Given the description of an element on the screen output the (x, y) to click on. 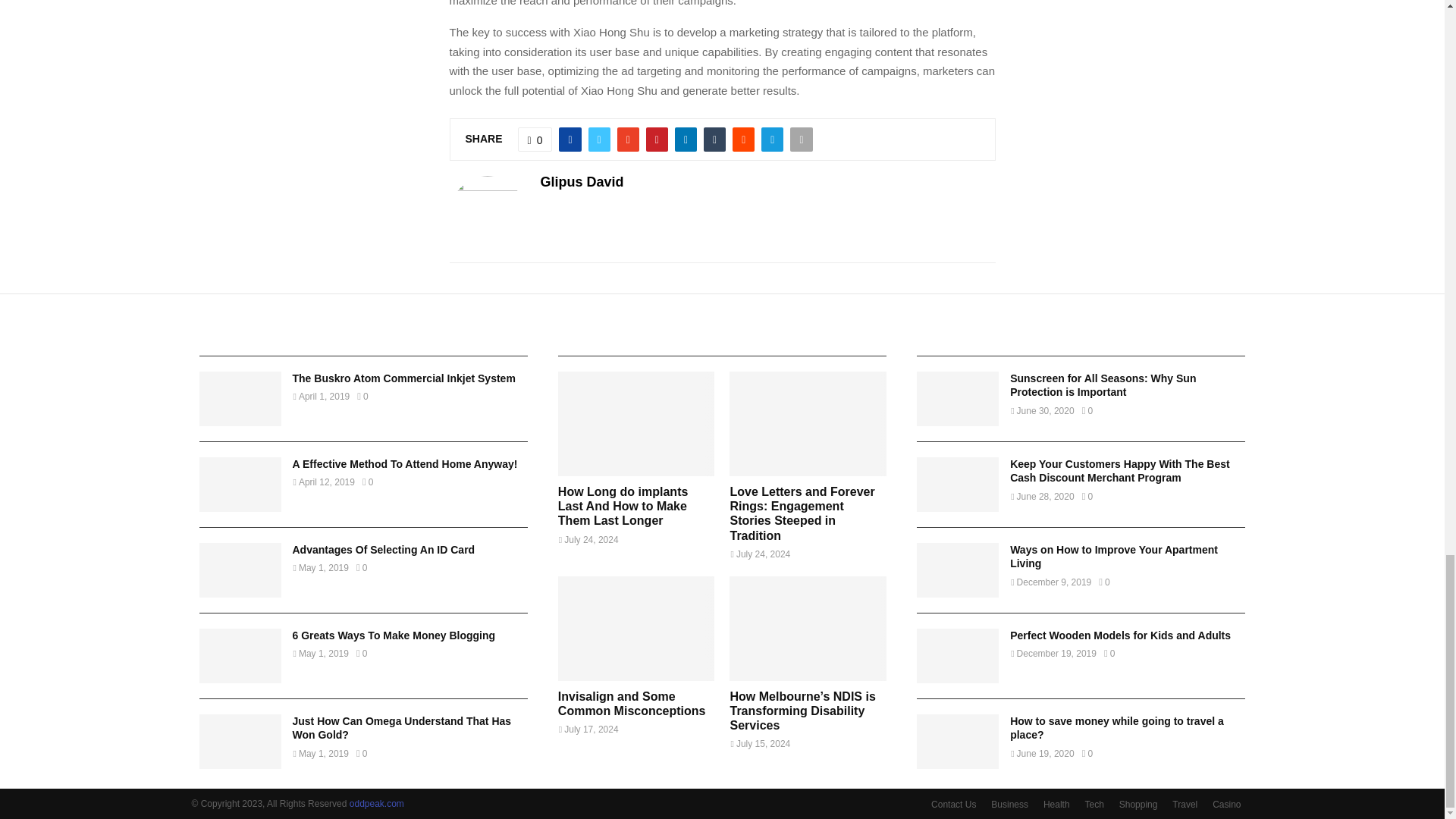
Posts by Glipus David (581, 181)
0 (535, 139)
Like (535, 139)
